Given the description of an element on the screen output the (x, y) to click on. 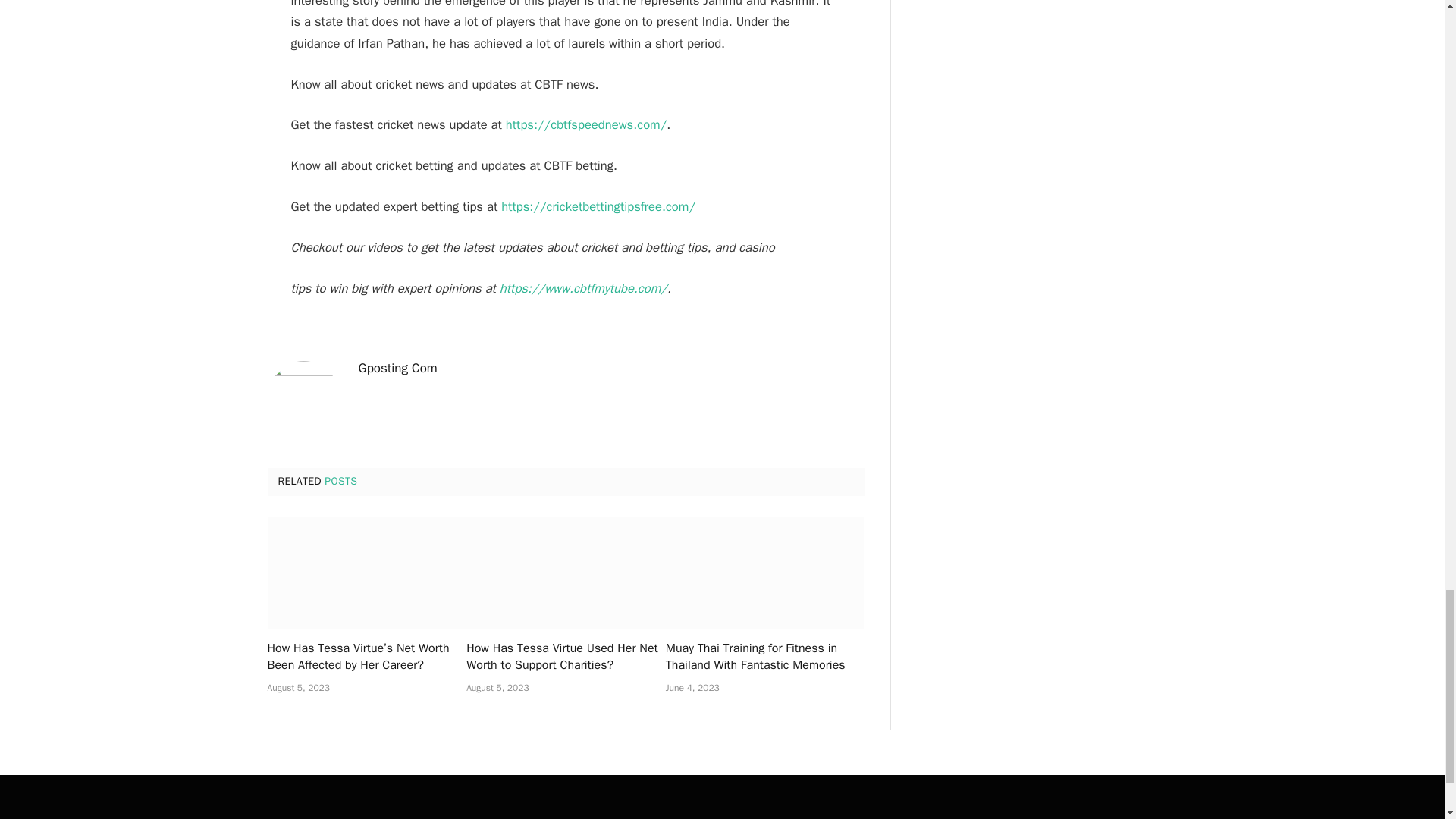
Gposting Com (397, 368)
Posts by Gposting Com (397, 368)
